Given the description of an element on the screen output the (x, y) to click on. 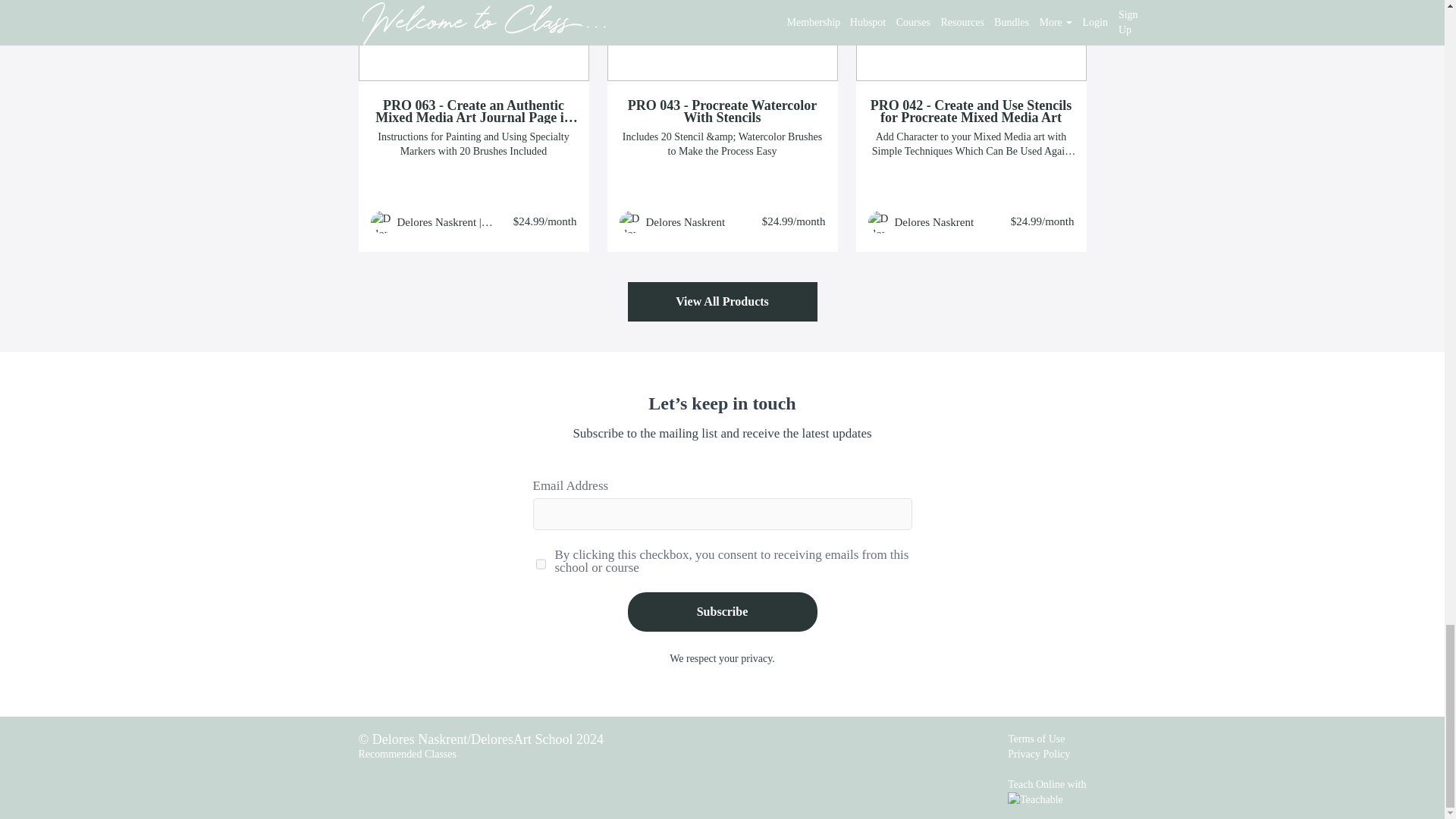
View All Products (721, 302)
Delores Naskrent (685, 221)
PRO 043 - Procreate Watercolor With Stencils (721, 111)
Delores Naskrent (934, 221)
